Given the description of an element on the screen output the (x, y) to click on. 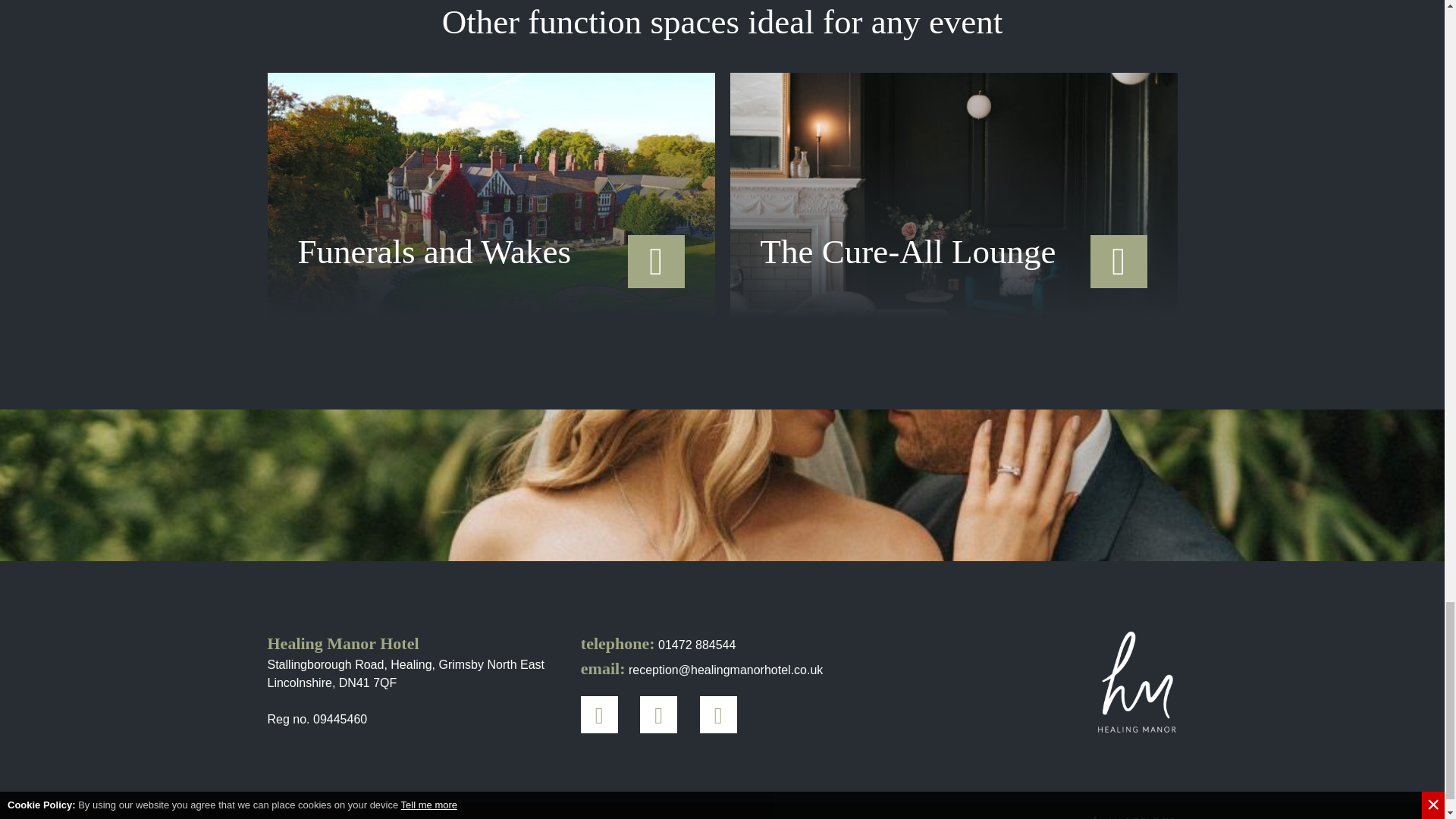
Website by Laser Red (1131, 816)
